Given the description of an element on the screen output the (x, y) to click on. 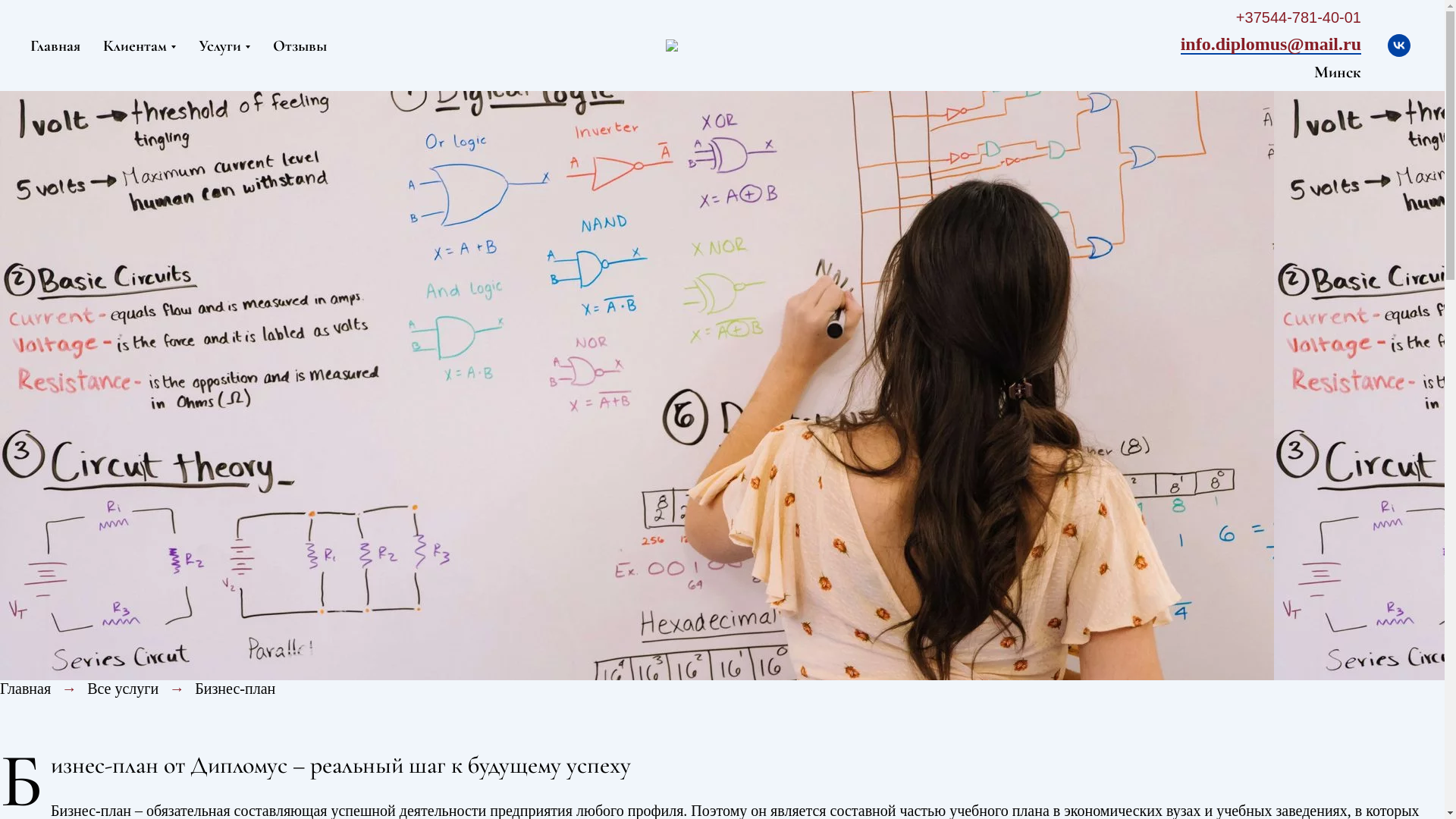
+37544-781-40-01 Element type: text (1298, 19)
info.diplomus@mail.ru Element type: text (1270, 44)
__replain_widget_iframe Element type: hover (1402, 776)
